Given the description of an element on the screen output the (x, y) to click on. 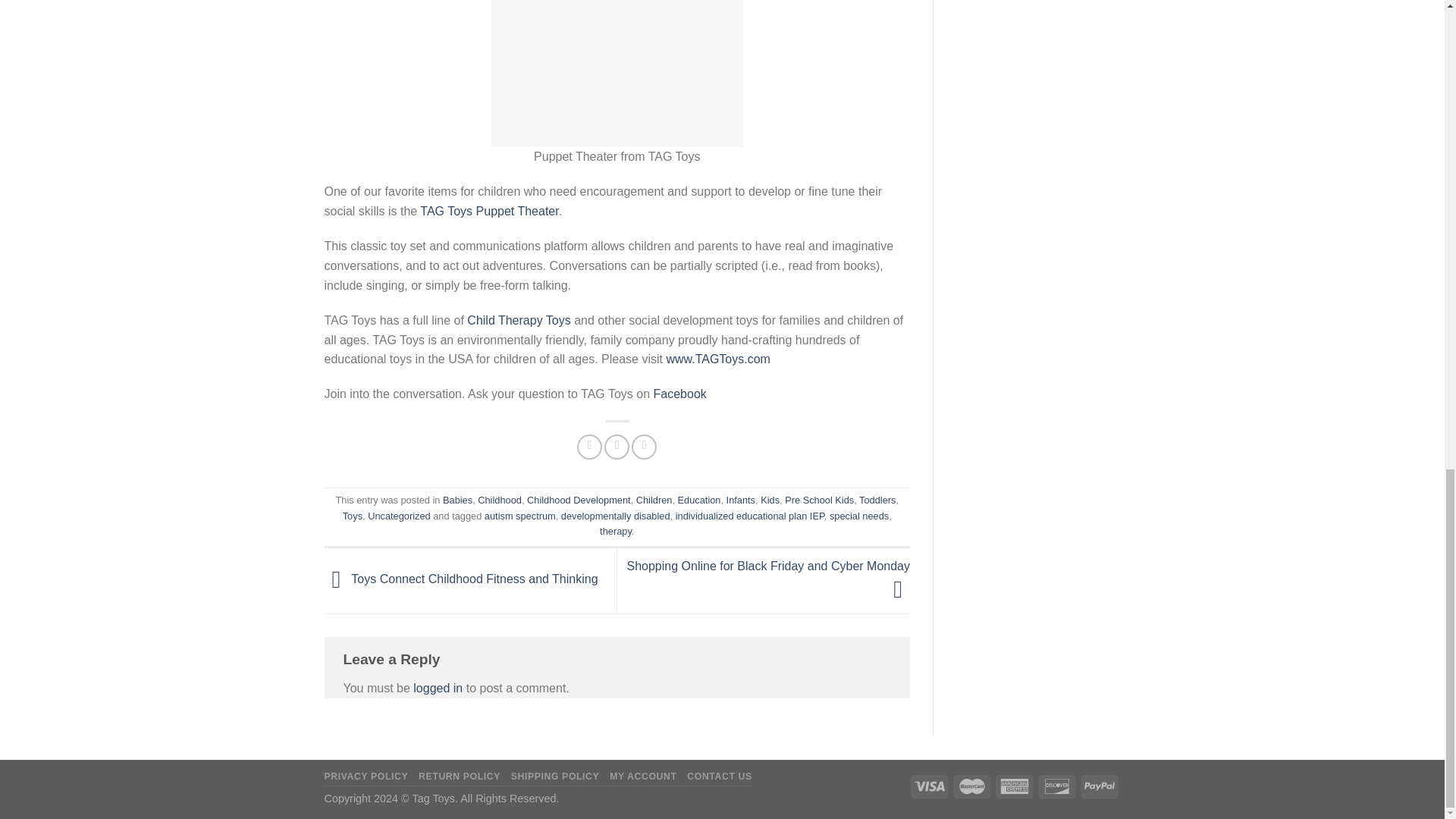
Pin on Pinterest (643, 446)
TAG Toys Puppet Theater Set (488, 210)
Share on Facebook (589, 446)
Share on Twitter (616, 446)
TAG Toys Child Therapy Toys (518, 319)
Ask a Question to TAG Toys on Facebook (679, 393)
Child Therapy Toys at TAG Toys (717, 358)
